Given the description of an element on the screen output the (x, y) to click on. 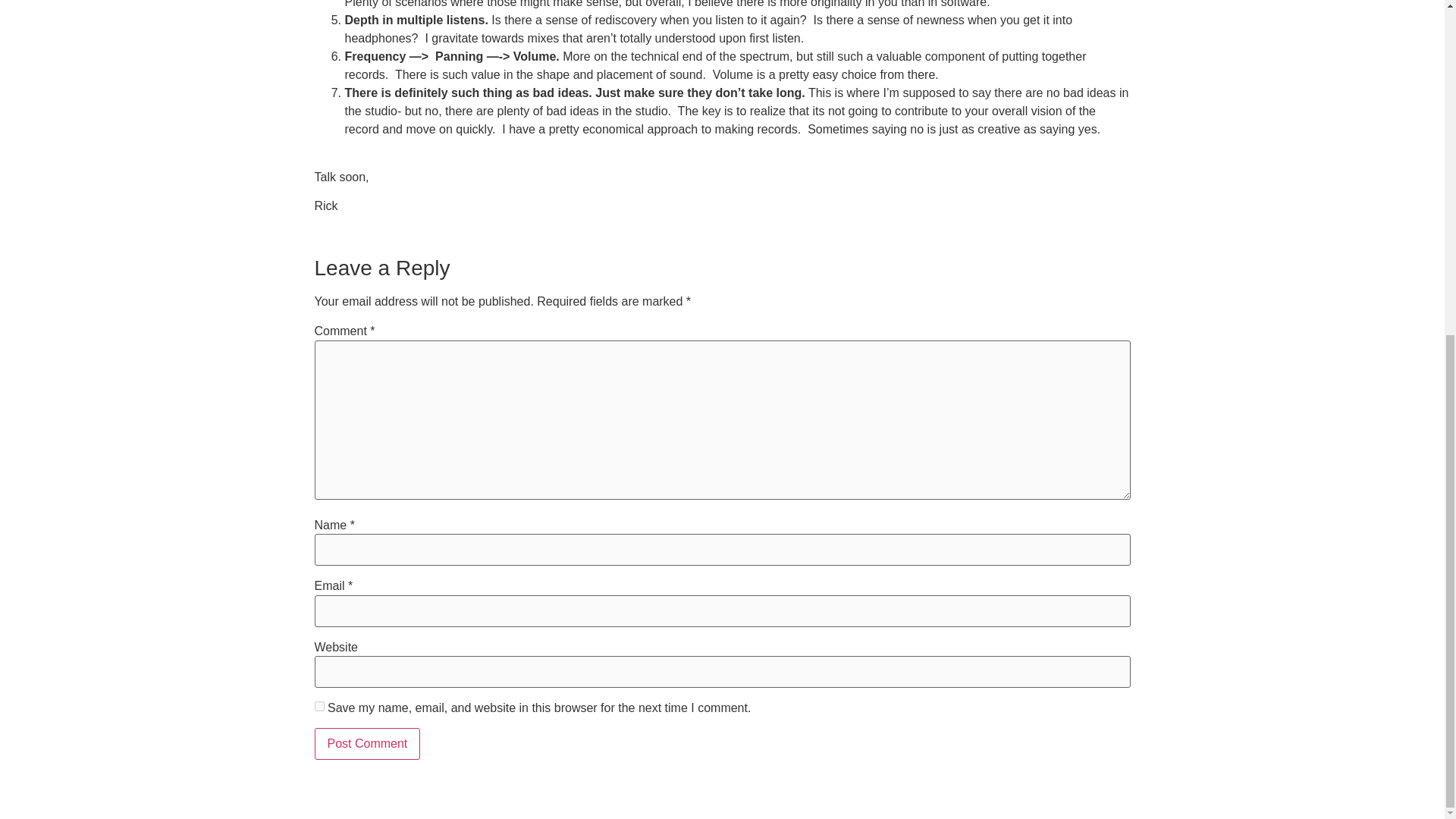
Post Comment (367, 744)
Post Comment (367, 744)
yes (318, 706)
